Given the description of an element on the screen output the (x, y) to click on. 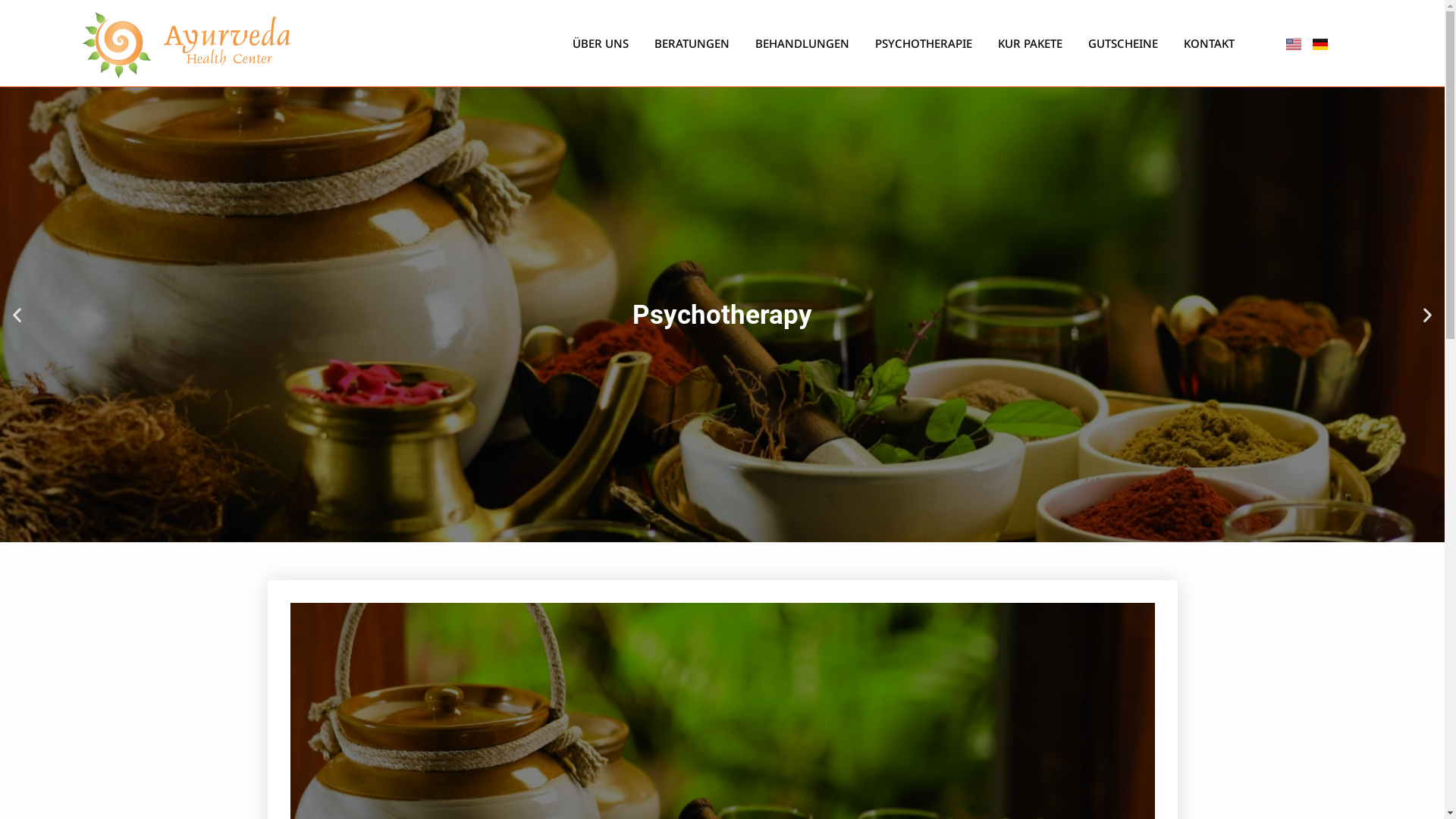
Psychotherapy Element type: text (722, 314)
BEHANDLUNGEN Element type: text (802, 42)
GUTSCHEINE Element type: text (1122, 42)
KUR PAKETE Element type: text (1029, 42)
KONTAKT Element type: text (1208, 42)
PSYCHOTHERAPIE Element type: text (923, 42)
BERATUNGEN Element type: text (691, 42)
